Given the description of an element on the screen output the (x, y) to click on. 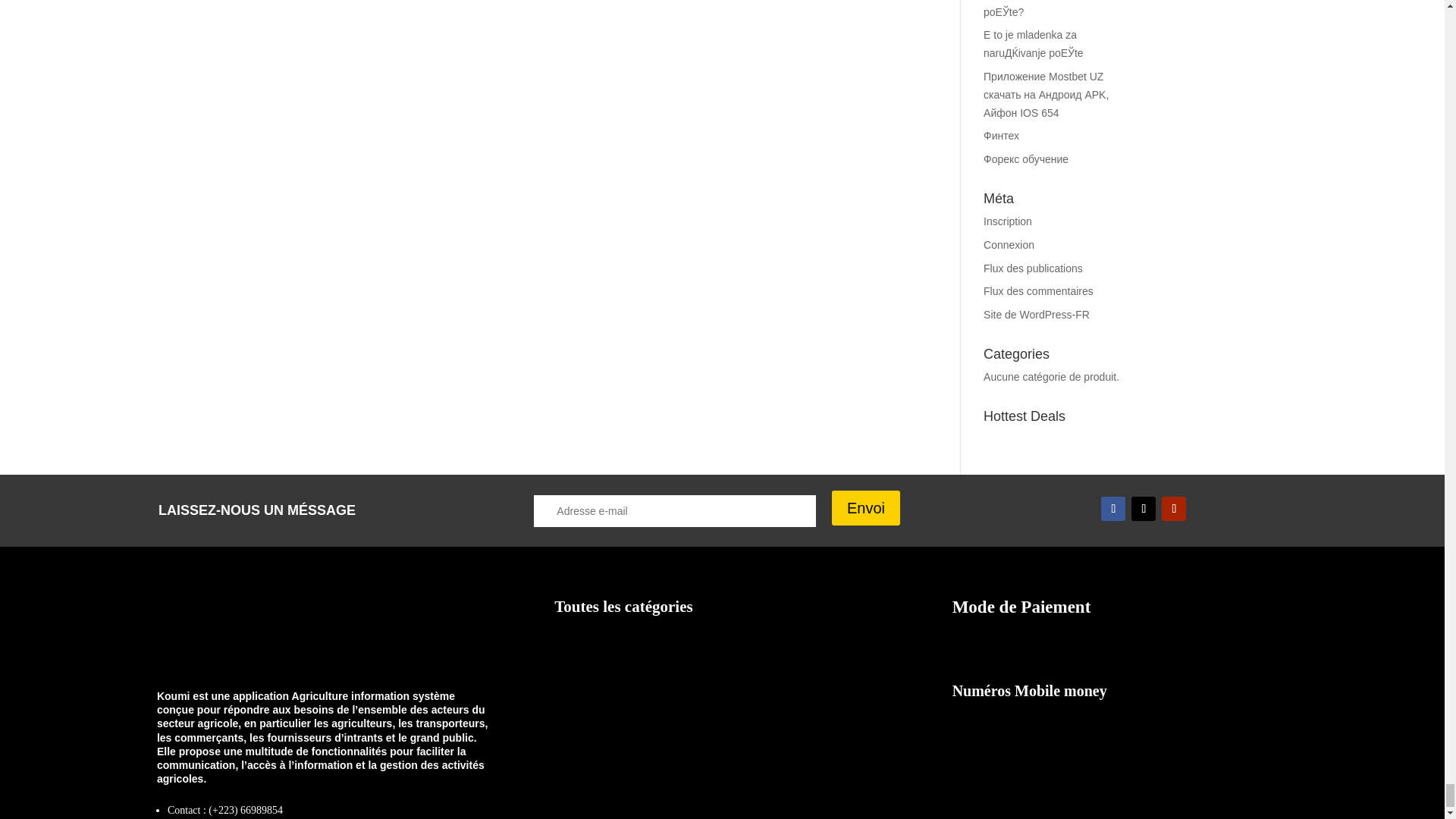
Suivez sur Facebook (1112, 508)
Suivez sur Youtube (1173, 508)
Suivez sur X (1143, 508)
